Given the description of an element on the screen output the (x, y) to click on. 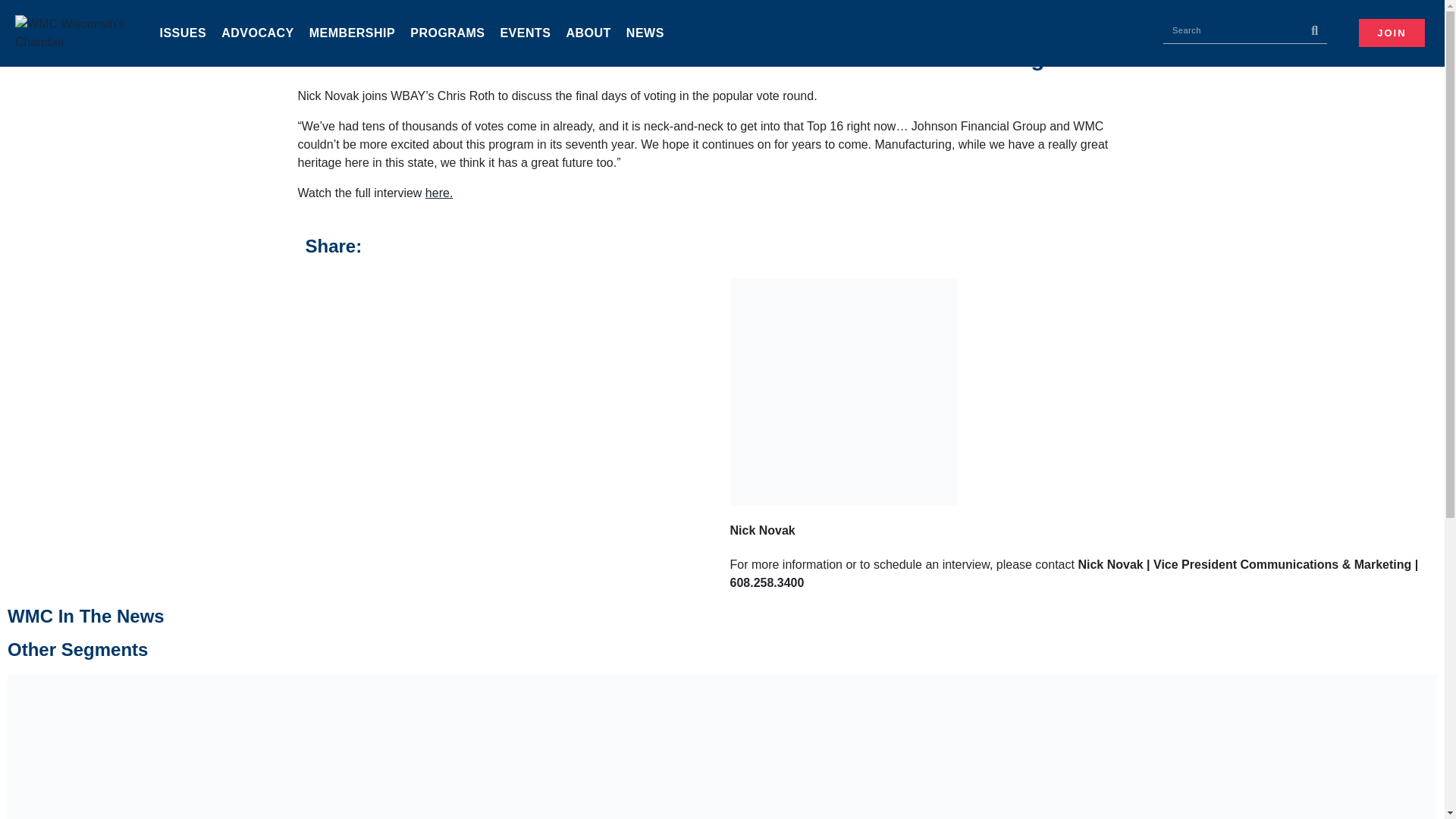
PROGRAMS (447, 32)
MEMBERSHIP (352, 32)
ADVOCACY (257, 32)
ISSUES (182, 32)
